Given the description of an element on the screen output the (x, y) to click on. 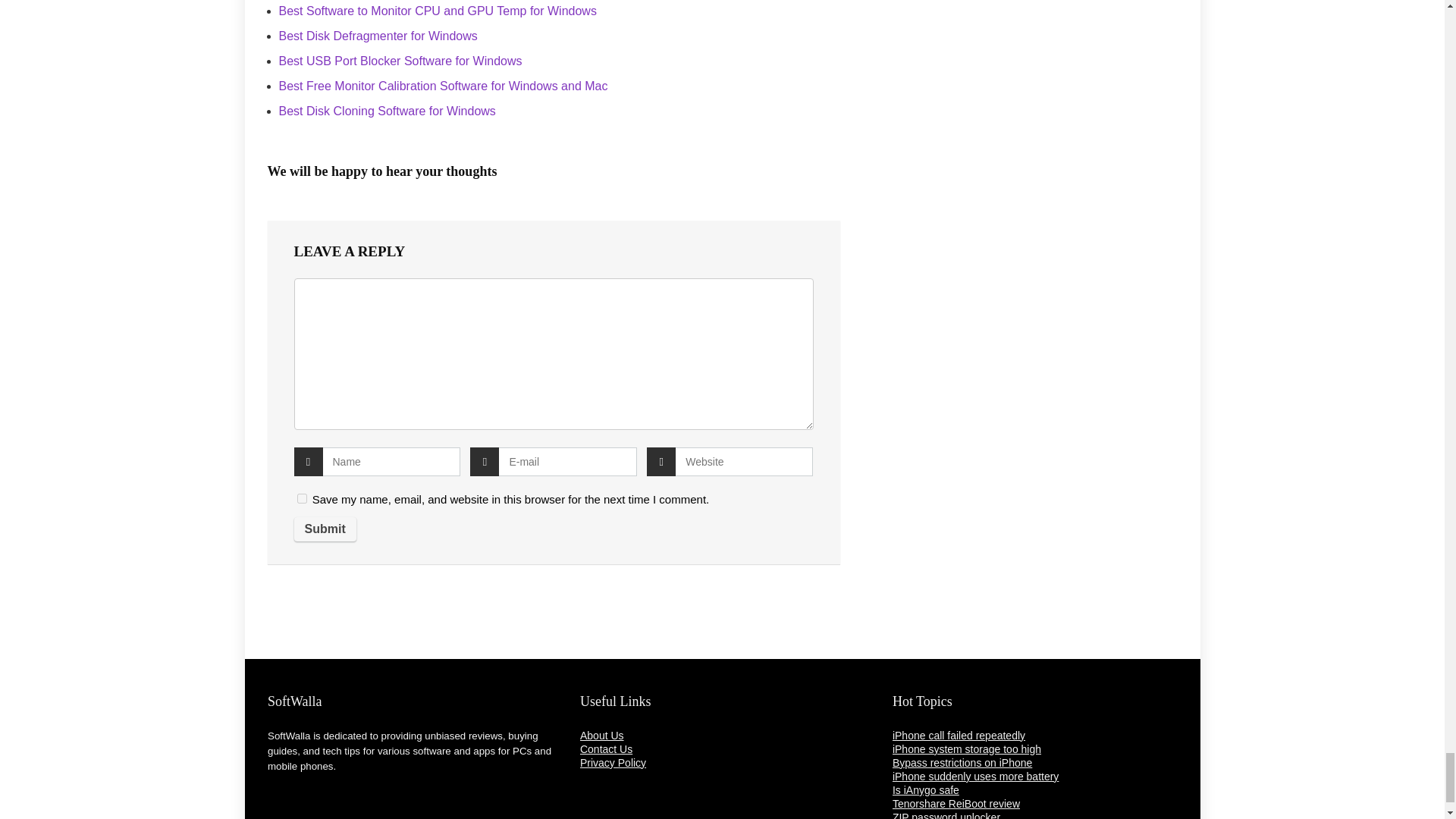
Best USB Port Blocker Software for Windows (400, 60)
yes (302, 498)
Submit (325, 528)
Best Disk Cloning Software for Windows (387, 110)
Best Software to Monitor CPU and GPU Temp for Windows (437, 10)
Best Free Monitor Calibration Software for Windows and Mac (443, 85)
Best Disk Defragmenter for Windows (378, 35)
